Given the description of an element on the screen output the (x, y) to click on. 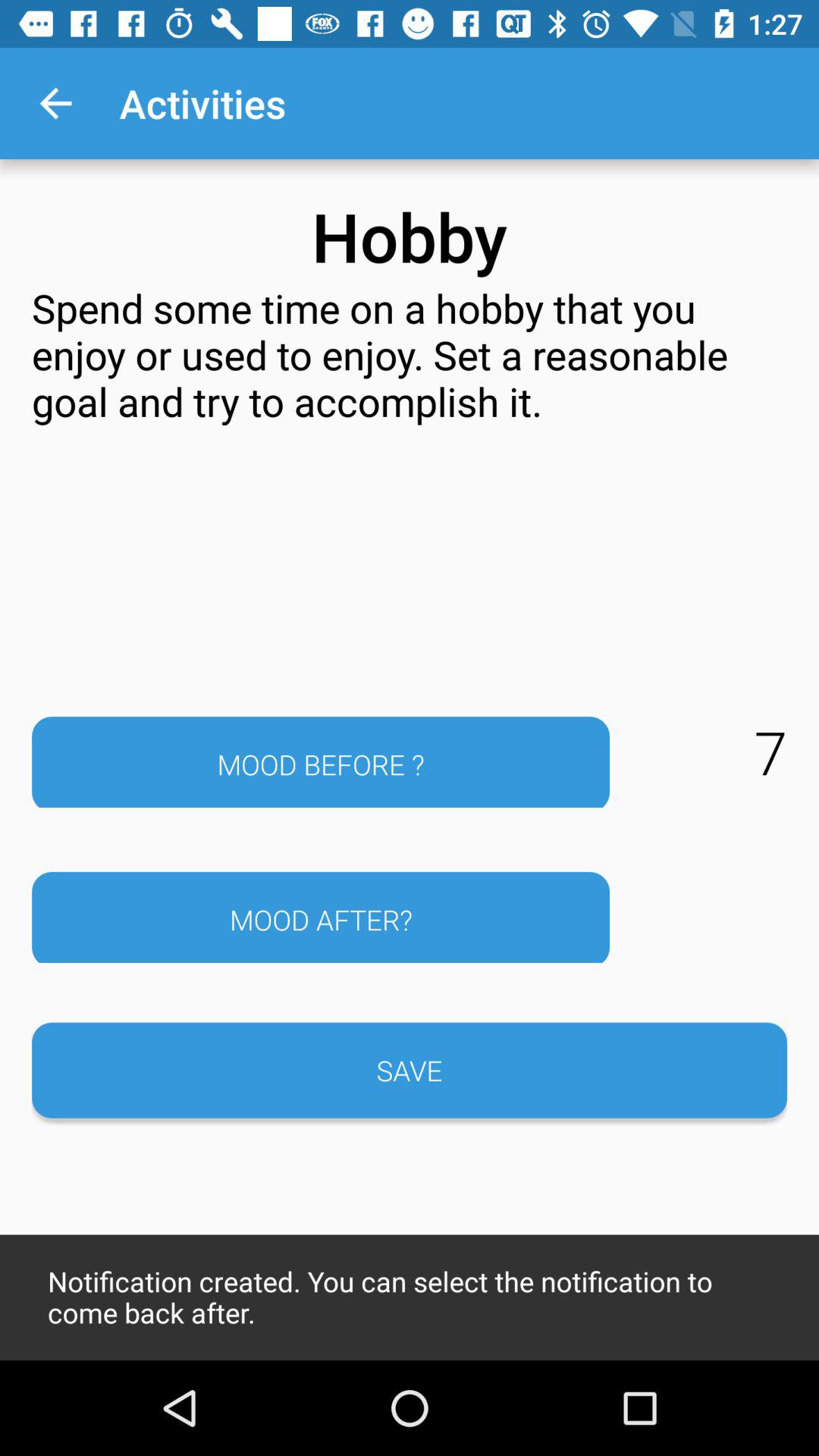
turn on the icon to the left of the activities icon (55, 103)
